Given the description of an element on the screen output the (x, y) to click on. 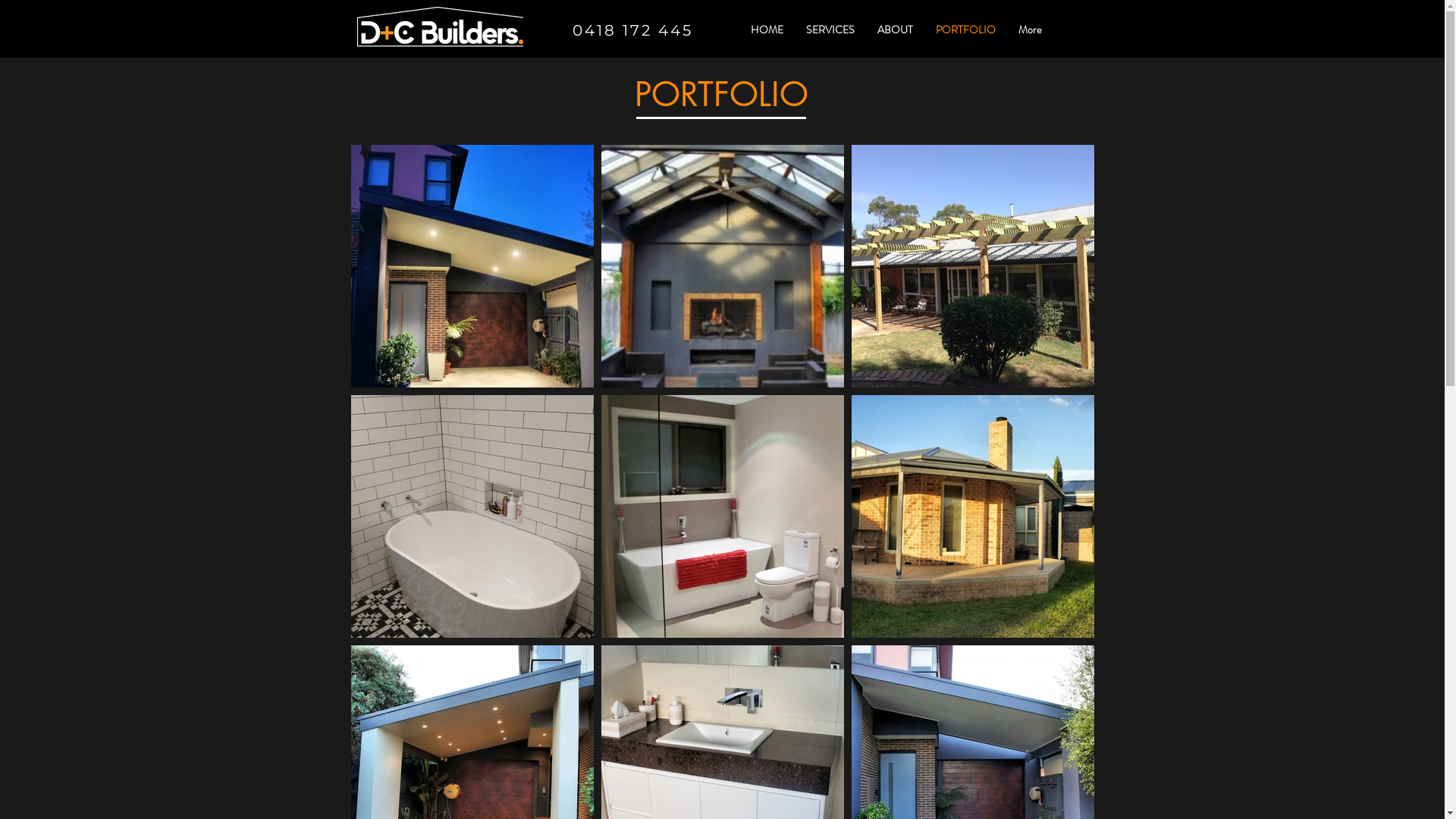
ABOUT Element type: text (895, 29)
0418 172 445 Element type: text (632, 30)
PORTFOLIO Element type: text (964, 29)
SERVICES Element type: text (830, 29)
HOME Element type: text (765, 29)
